Given the description of an element on the screen output the (x, y) to click on. 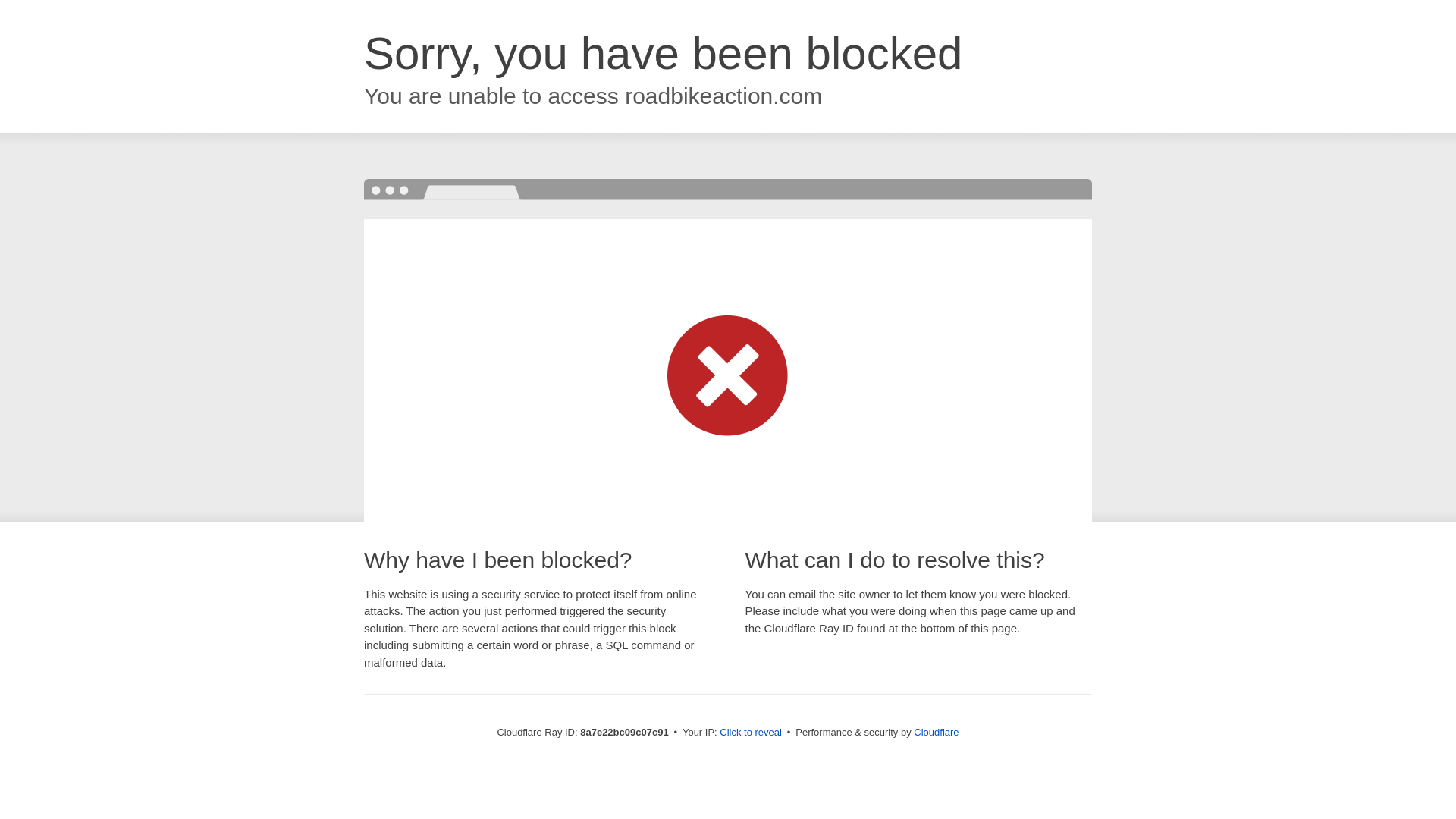
Cloudflare (936, 731)
Click to reveal (750, 732)
